Given the description of an element on the screen output the (x, y) to click on. 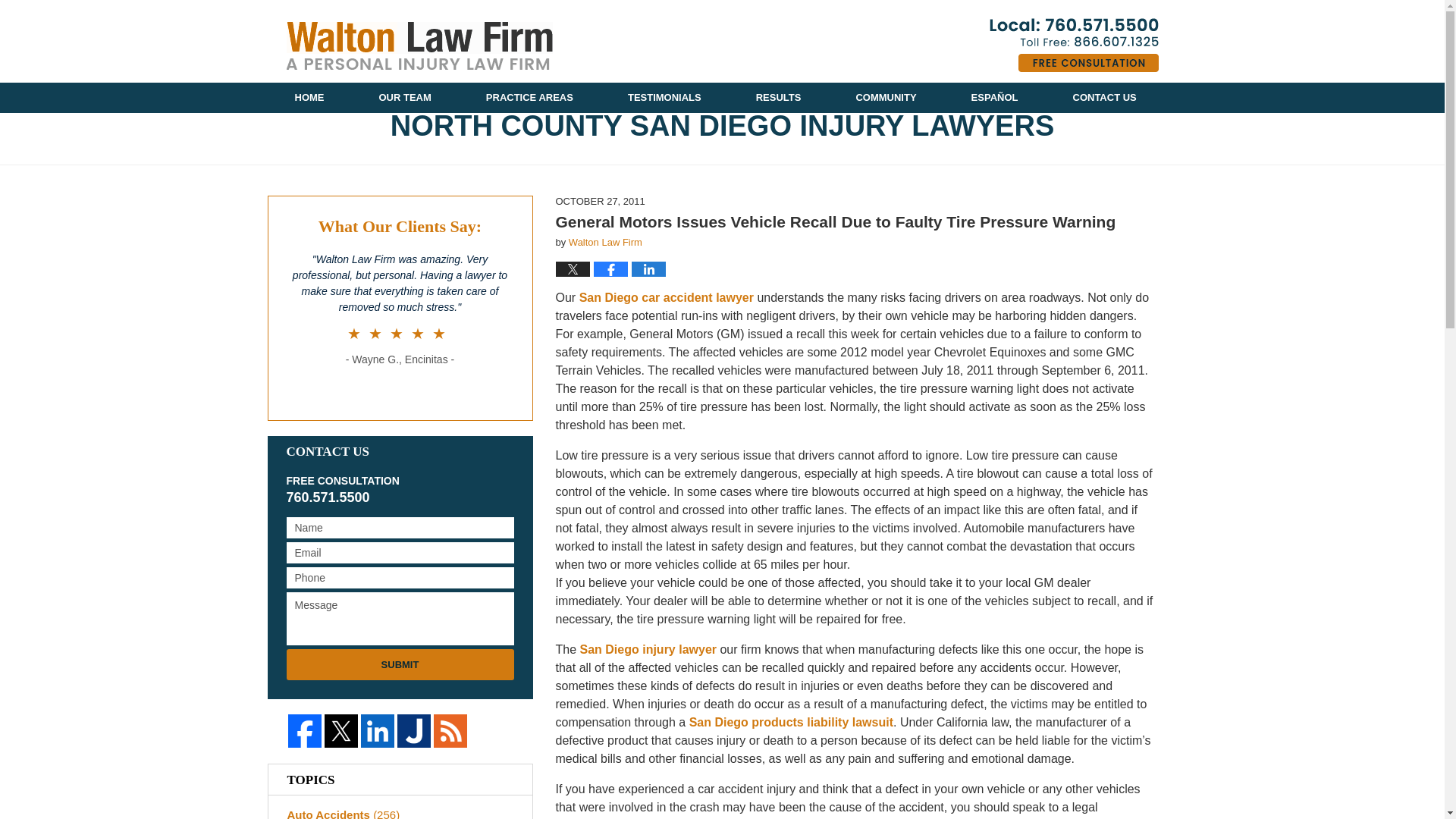
Justia (414, 730)
Facebook (304, 730)
San Diego car accident lawyer (666, 297)
CONTACT US (1104, 97)
COMMUNITY (885, 97)
Published By Walton Law Firm (1072, 45)
San Diego products liability lawsuit (790, 721)
Walton Law Firm (605, 242)
PRACTICE AREAS (528, 97)
Twitter (341, 730)
OUR TEAM (405, 97)
Feed (450, 730)
RESULTS (778, 97)
SUBMIT (399, 664)
San Diego injury lawyer (648, 649)
